Given the description of an element on the screen output the (x, y) to click on. 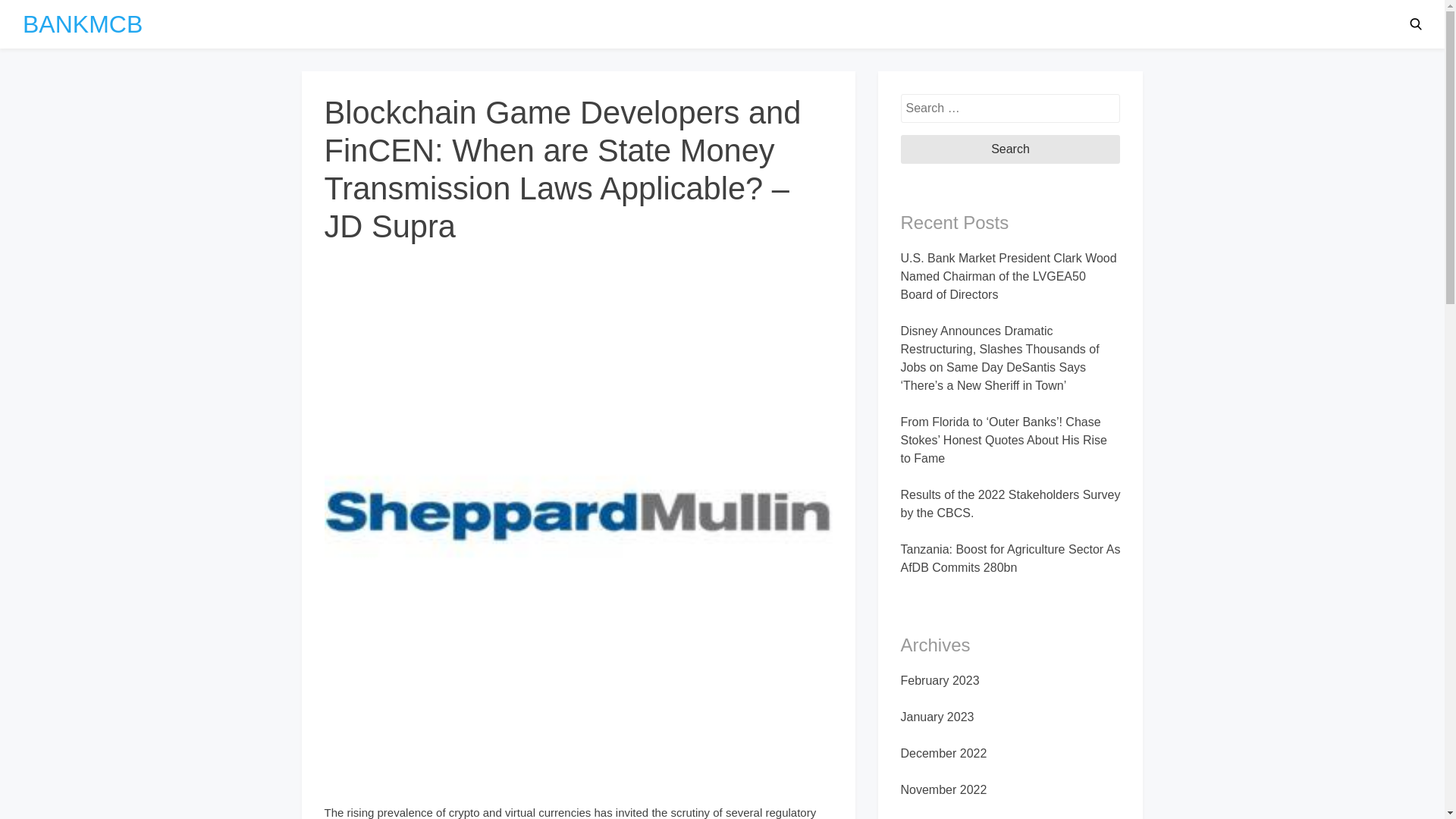
Search (1011, 149)
January 2023 (937, 716)
BANKMCB (82, 23)
Results of the 2022 Stakeholders Survey by the CBCS. (1011, 503)
Tanzania: Boost for Agriculture Sector As AfDB Commits 280bn (1011, 558)
November 2022 (944, 789)
Search (1011, 149)
December 2022 (944, 753)
Search (1011, 149)
February 2023 (940, 680)
